Given the description of an element on the screen output the (x, y) to click on. 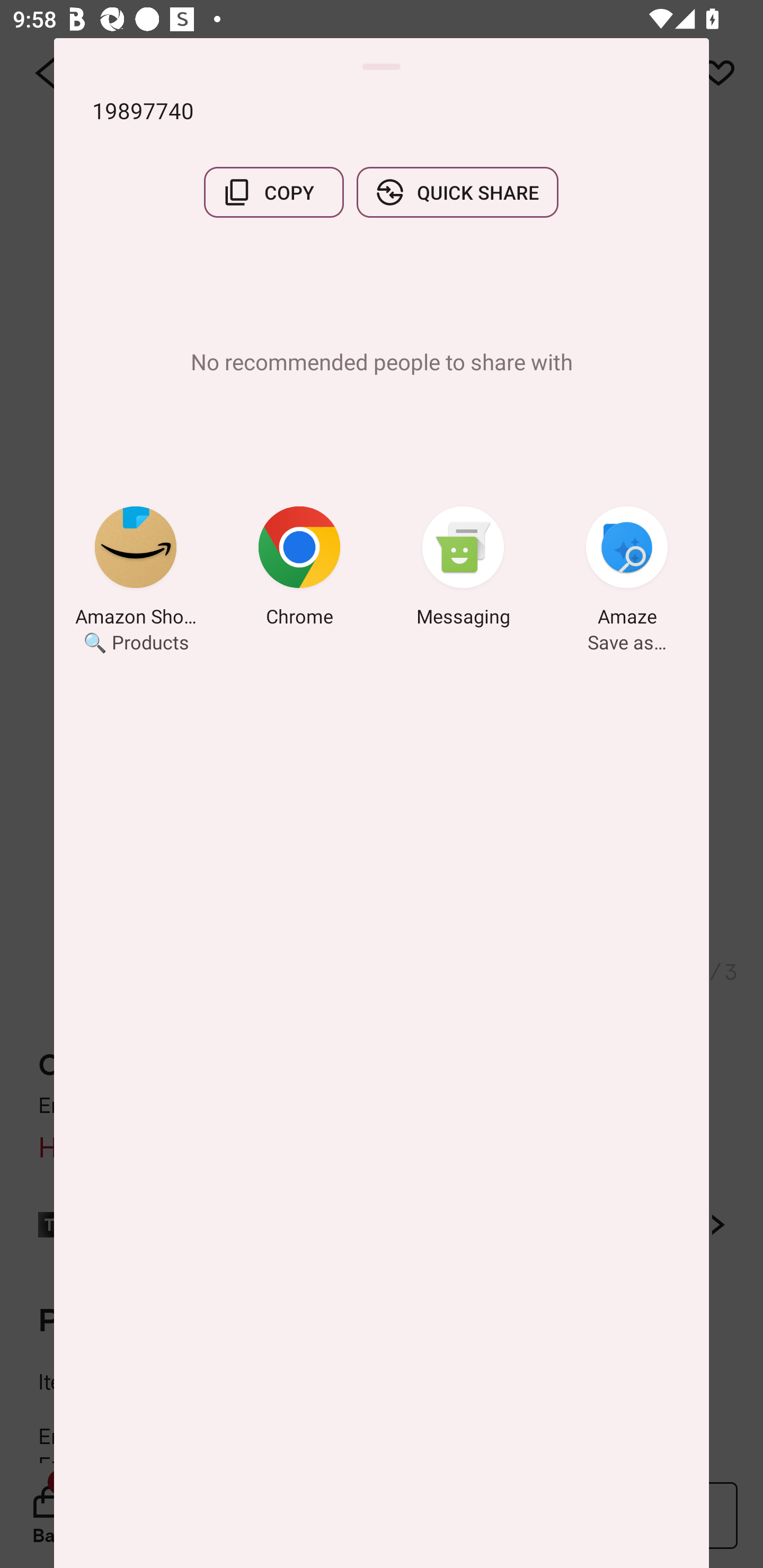
COPY (273, 191)
QUICK SHARE (457, 191)
Amazon Shopping 🔍 Products (135, 569)
Chrome (299, 569)
Messaging (463, 569)
Amaze Save as… (626, 569)
